Given the description of an element on the screen output the (x, y) to click on. 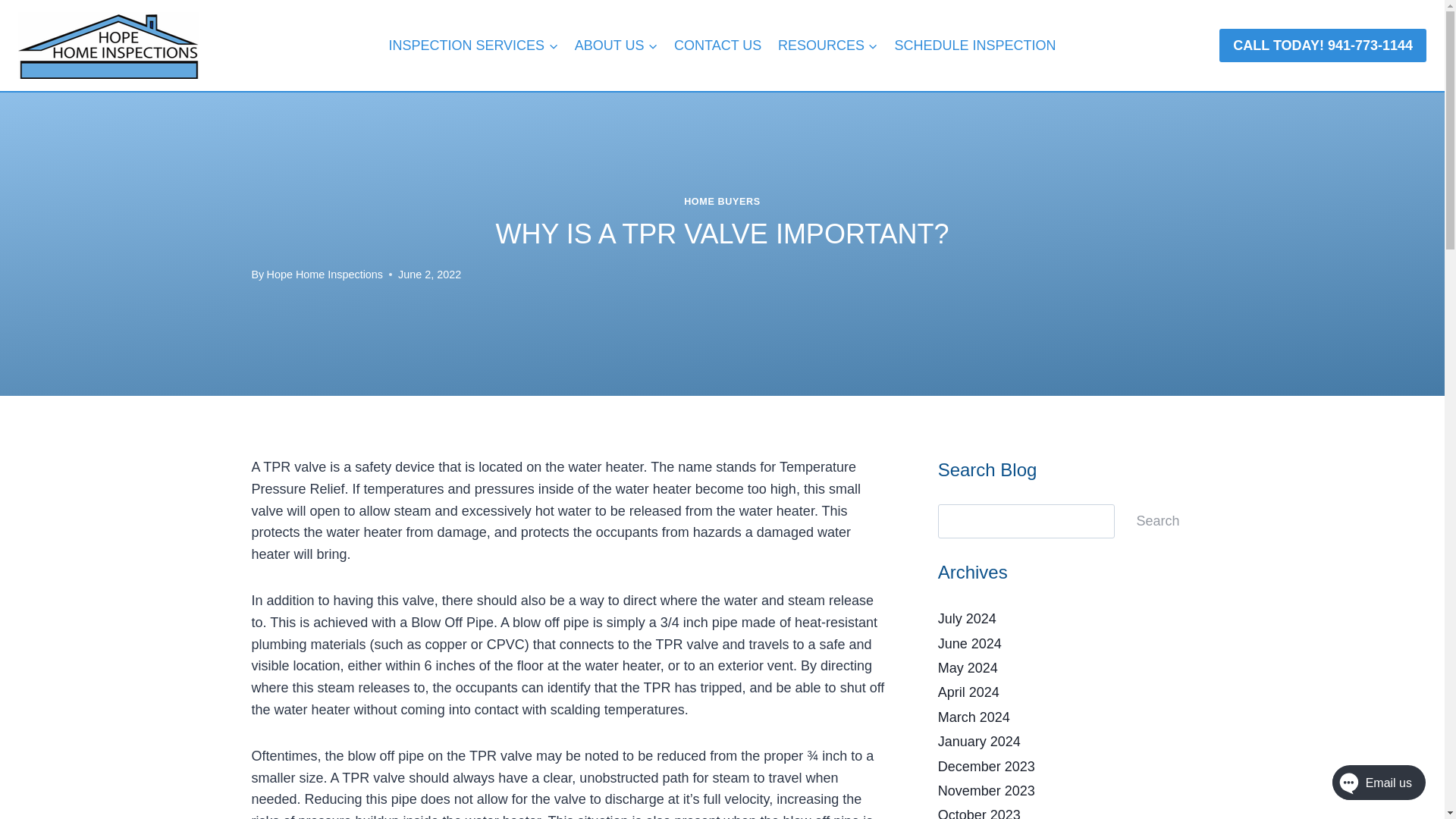
ABOUT US (615, 45)
INSPECTION SERVICES (473, 45)
Email us (1363, 786)
